Given the description of an element on the screen output the (x, y) to click on. 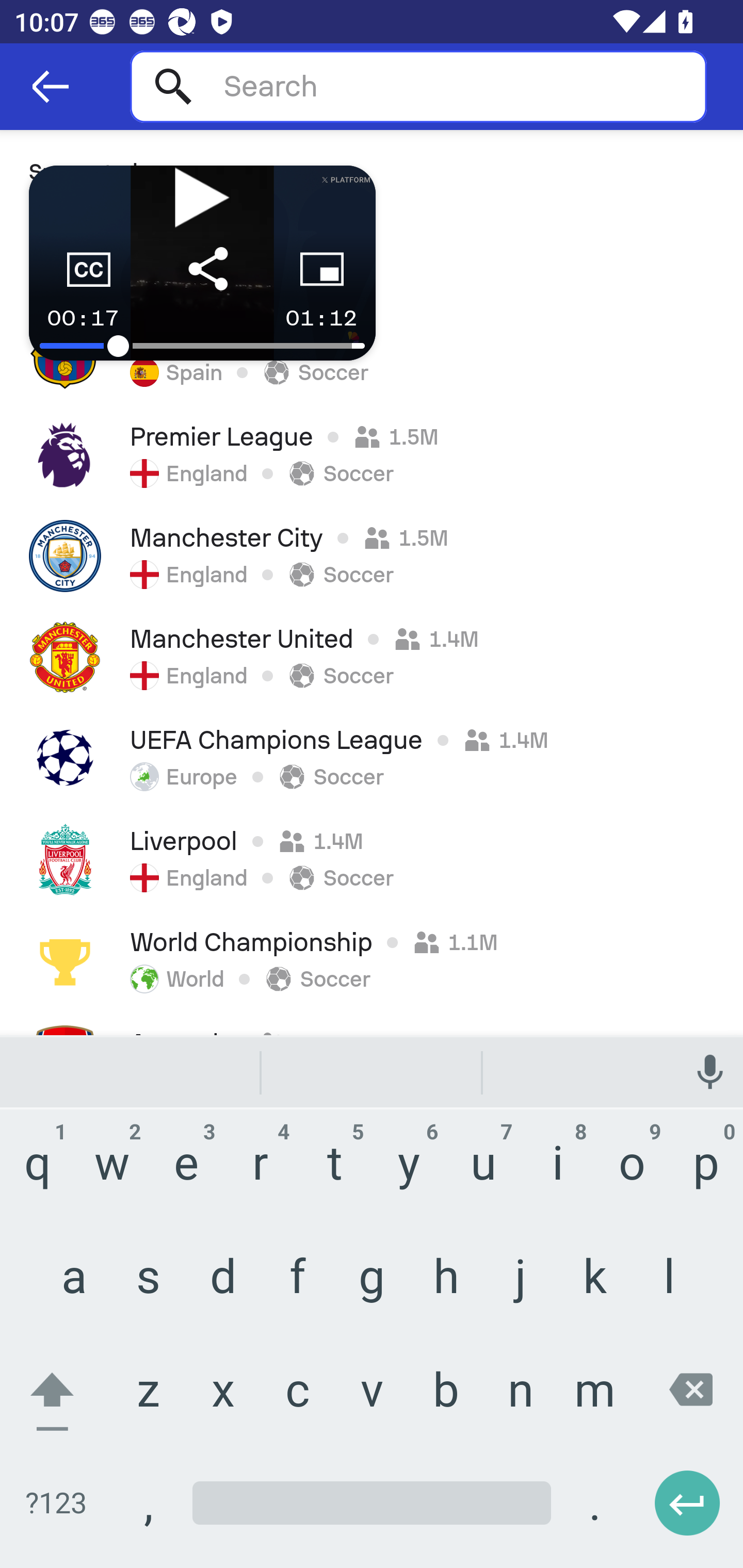
Navigate up (50, 86)
Search (418, 86)
Premier League 1.5M England Soccer (371, 454)
Manchester City 1.5M England Soccer (371, 555)
Manchester United 1.4M England Soccer (371, 656)
UEFA Champions League 1.4M Europe Soccer (371, 758)
Liverpool 1.4M England Soccer (371, 859)
World Championship 1.1M World Soccer (371, 960)
